Given the description of an element on the screen output the (x, y) to click on. 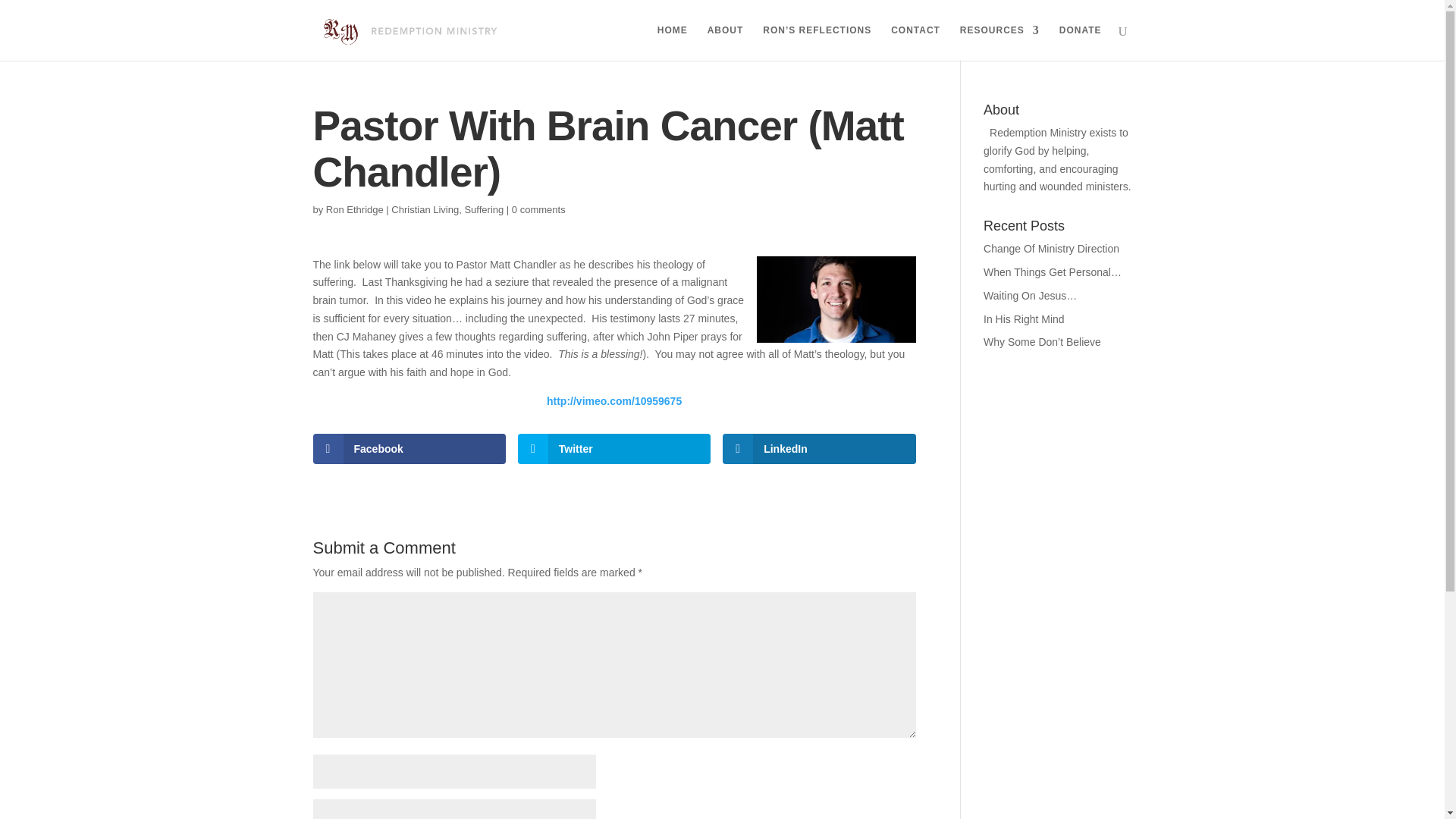
Ron Ethridge (355, 209)
ABOUT (725, 42)
Christian Living (424, 209)
0 comments (539, 209)
LinkedIn (818, 449)
CONTACT (915, 42)
Suffering (483, 209)
Facebook (409, 449)
Posts by Ron Ethridge (355, 209)
DONATE (1080, 42)
